Given the description of an element on the screen output the (x, y) to click on. 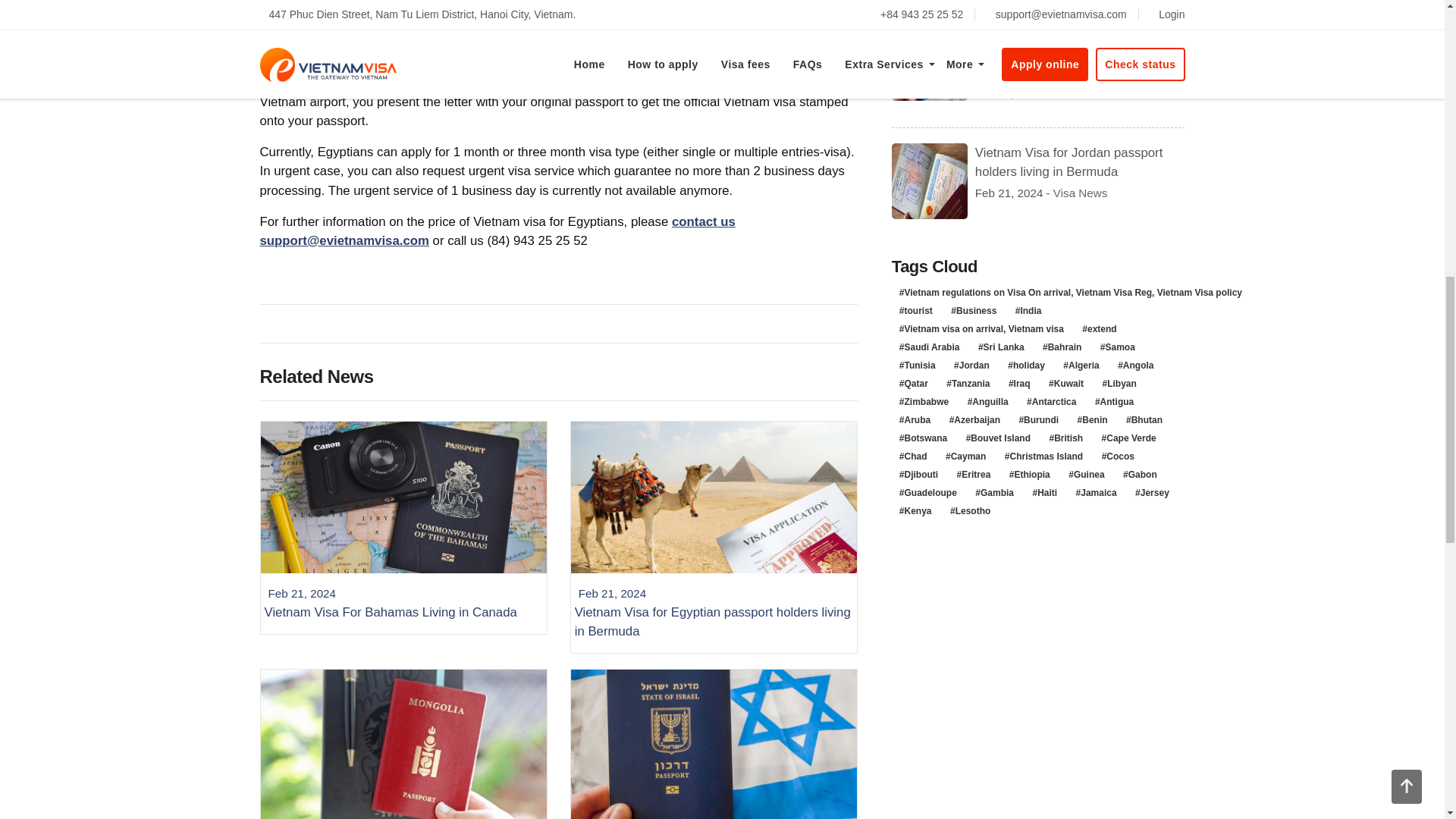
contact us (703, 221)
